Given the description of an element on the screen output the (x, y) to click on. 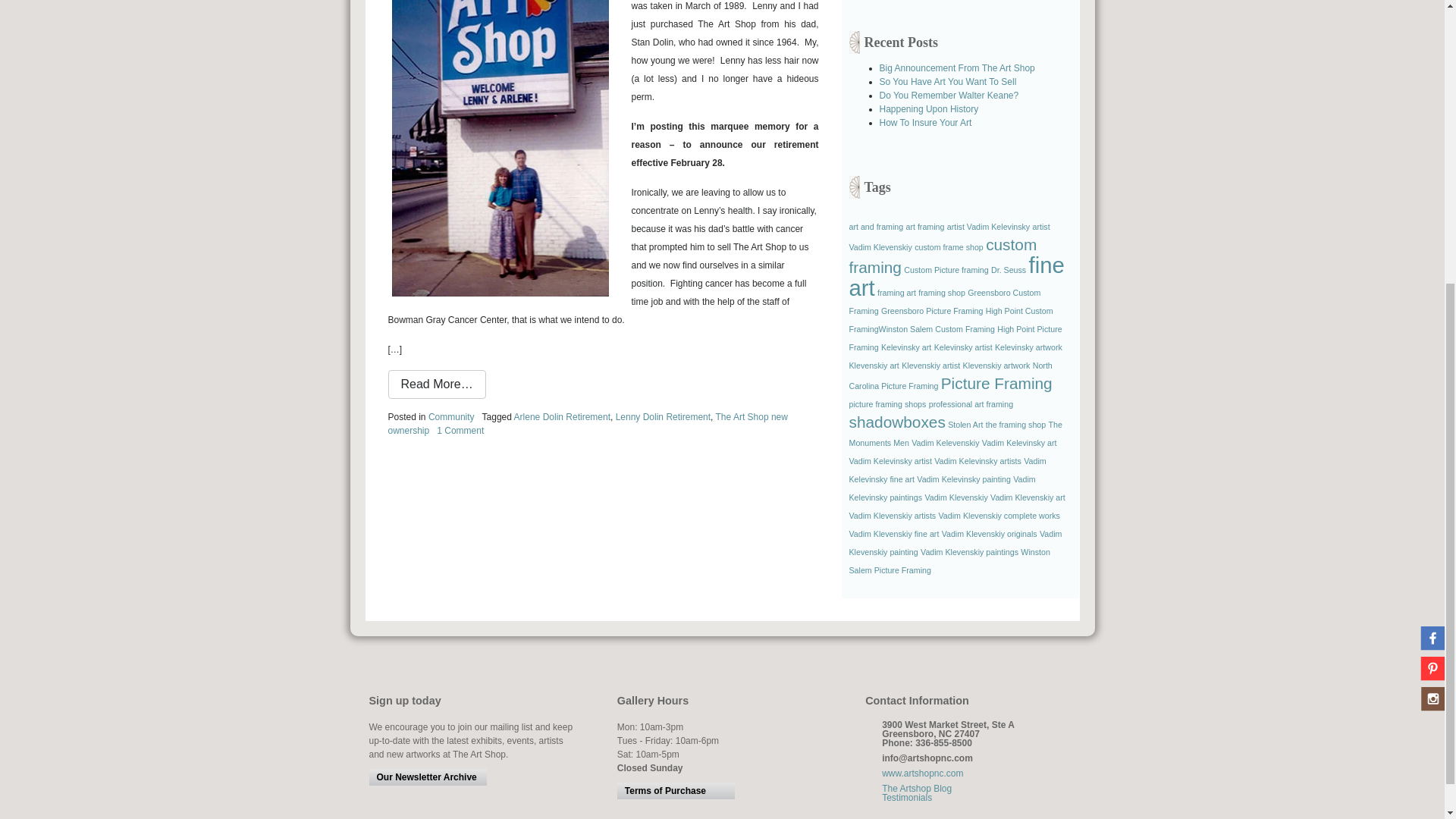
Custom Picture framing (946, 269)
Lenny Dolin Retirement (662, 416)
How To Insure Your Art (459, 430)
Arlene Dolin Retirement (925, 122)
Do You Remember Walter Keane? (561, 416)
custom frame shop (949, 95)
artist Vadim Klevenskiy (949, 246)
Community (948, 236)
Big Announcement From The Art Shop (451, 416)
